Given the description of an element on the screen output the (x, y) to click on. 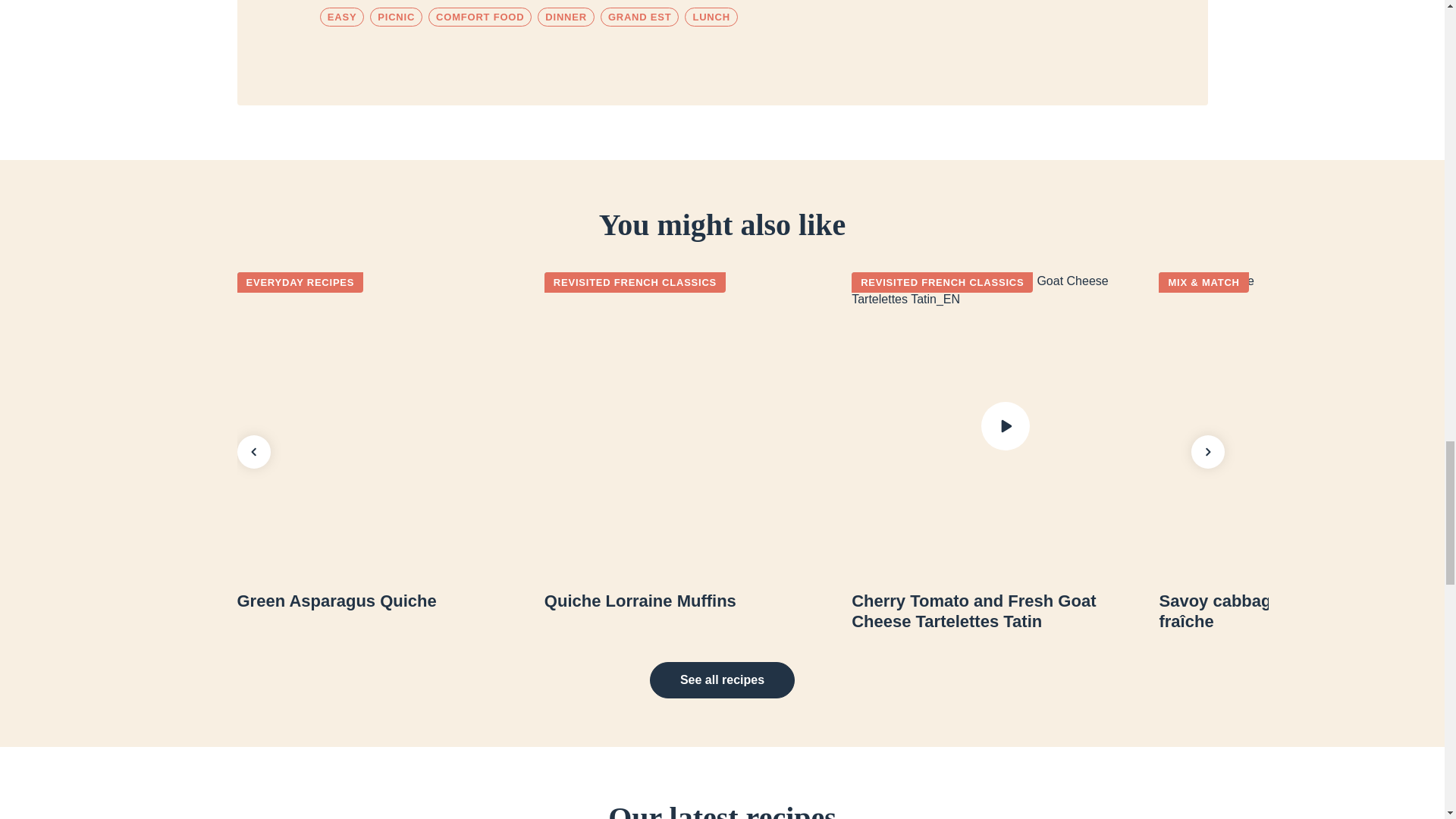
LUNCH (710, 16)
GRAND EST (639, 16)
Cherry Tomato and Fresh Goat Cheese Tartelettes Tatin (1004, 611)
EASY (342, 16)
COMFORT FOOD (479, 16)
Green Asparagus Quiche (389, 600)
REVISITED FRENCH CLASSICS (634, 281)
DINNER (565, 16)
Quiche Lorraine Muffins (697, 600)
REVISITED FRENCH CLASSICS (941, 281)
EVERYDAY RECIPES (298, 281)
PICNIC (395, 16)
